Given the description of an element on the screen output the (x, y) to click on. 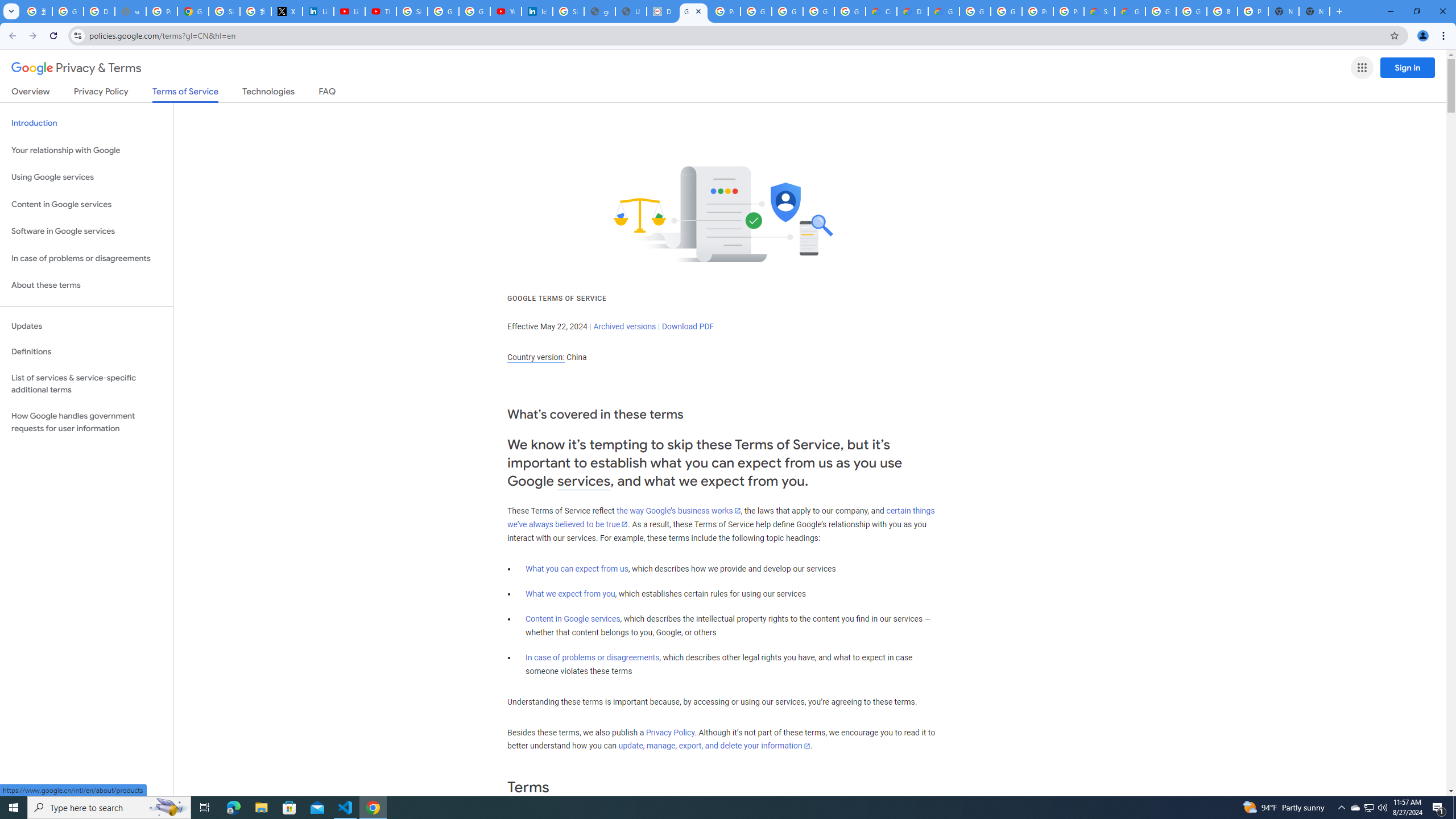
Support Hub | Google Cloud (1098, 11)
Country version: (535, 357)
Content in Google services (572, 618)
Download PDF (687, 326)
Google Cloud Platform (1190, 11)
How Google handles government requests for user information (86, 422)
